Given the description of an element on the screen output the (x, y) to click on. 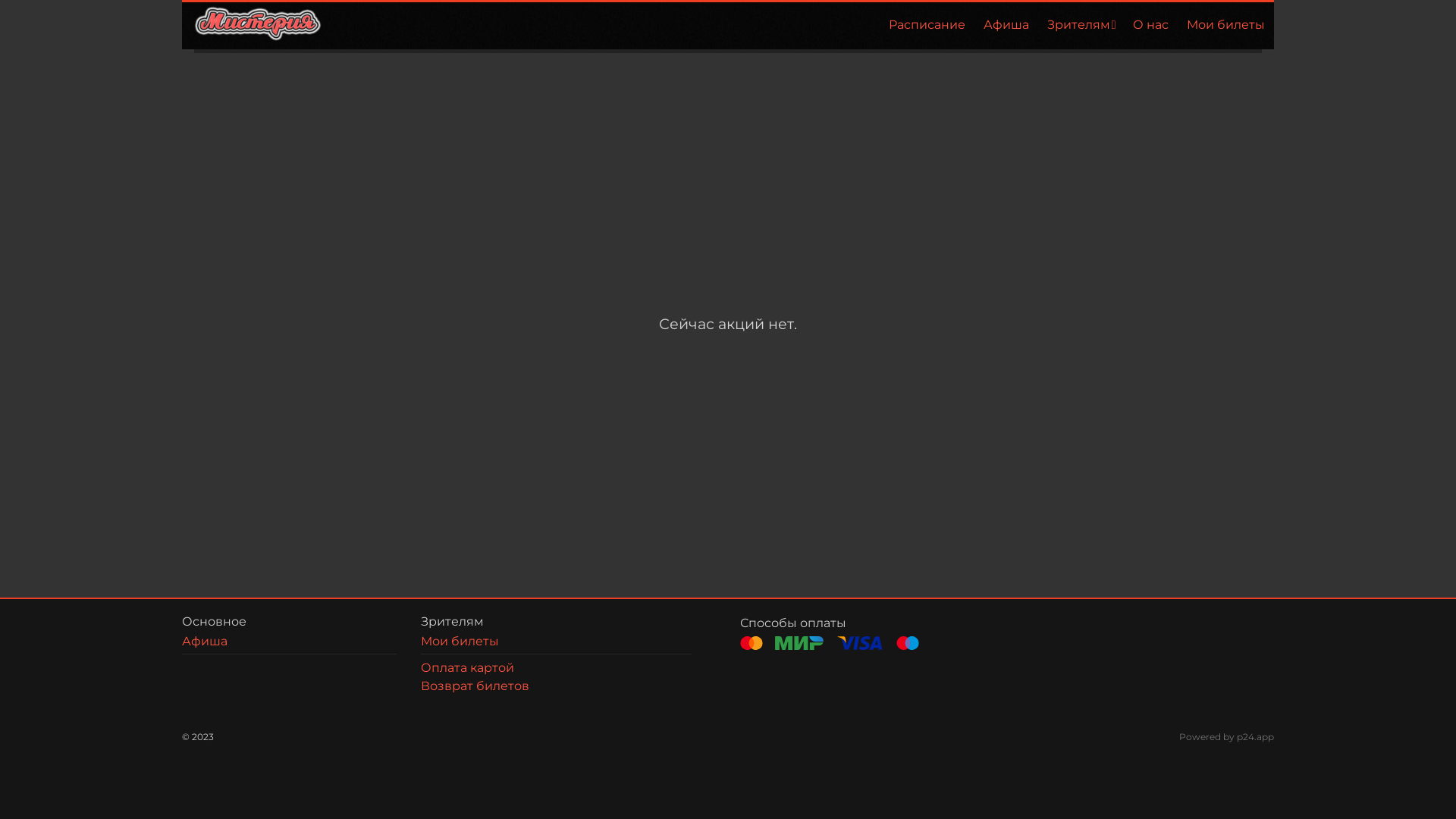
p24.app Element type: text (1255, 736)
